Given the description of an element on the screen output the (x, y) to click on. 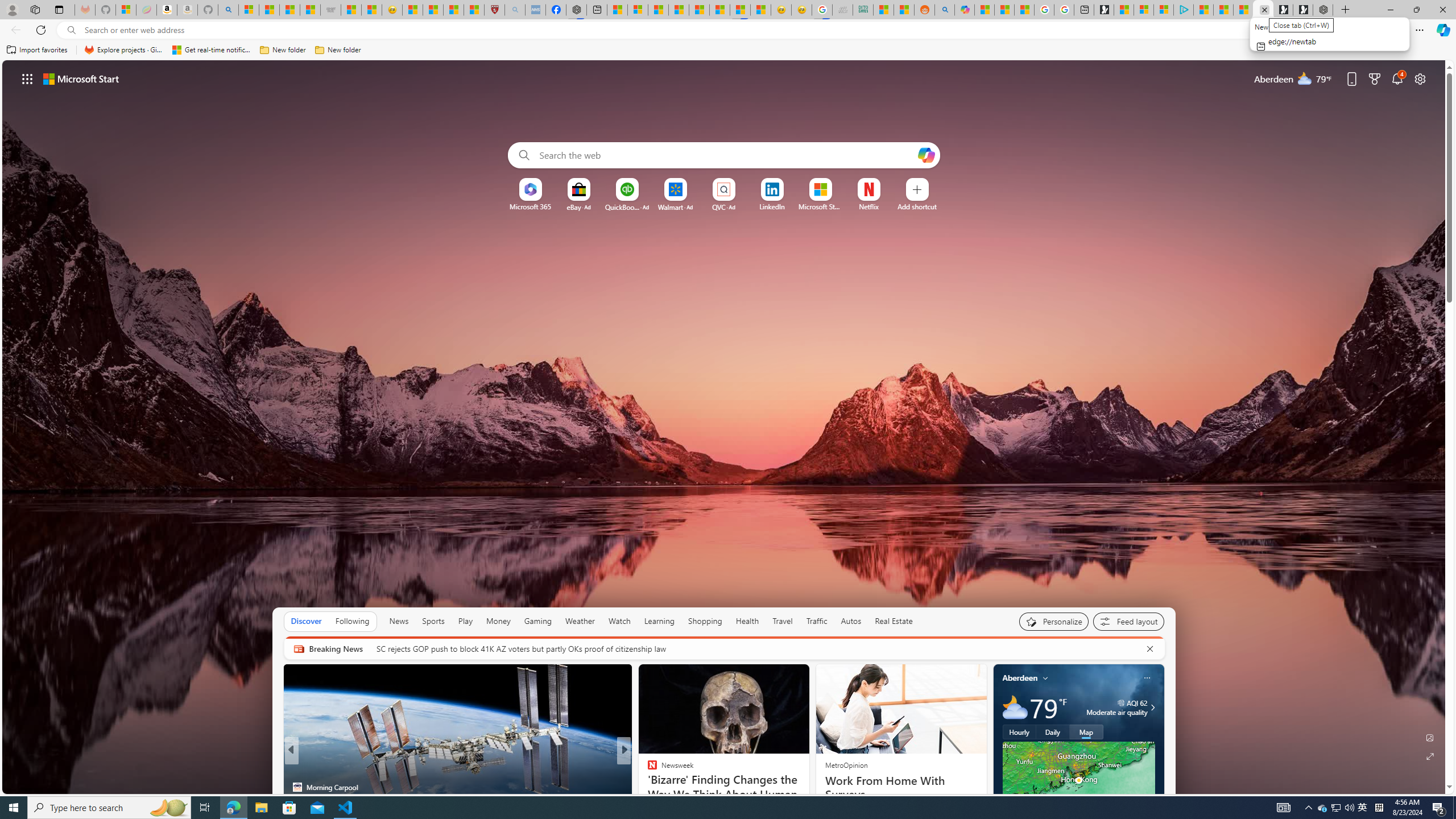
LinkedIn (771, 206)
Expand background (1430, 756)
24/7 Wall St. (647, 768)
Enter your search term (726, 155)
